Given the description of an element on the screen output the (x, y) to click on. 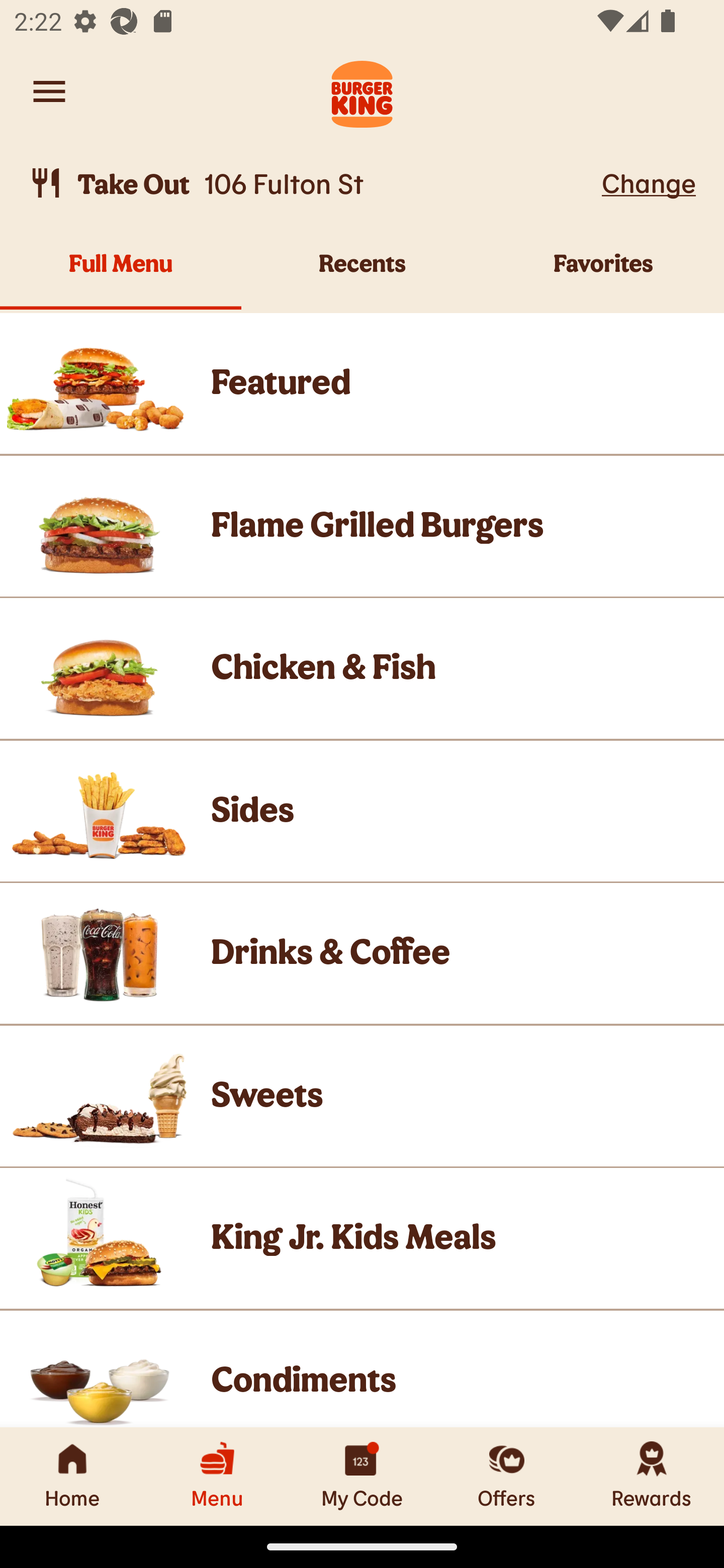
Burger King Logo. Navigate to Home (362, 91)
Navigate to account menu  (49, 91)
Take Out, 106 Fulton St  Take Out 106 Fulton St (311, 183)
Change (648, 182)
Full Menu (120, 273)
Recents (361, 273)
Favorites (603, 273)
Product Image, Featured Product Image Featured (362, 383)
Product Image, Sides Product Image Sides (362, 810)
Product Image, Sweets Product Image Sweets (362, 1095)
Product Image, Condiments Product Image Condiments (362, 1368)
Home (72, 1475)
Menu (216, 1475)
My Code (361, 1475)
Offers (506, 1475)
Rewards (651, 1475)
